Given the description of an element on the screen output the (x, y) to click on. 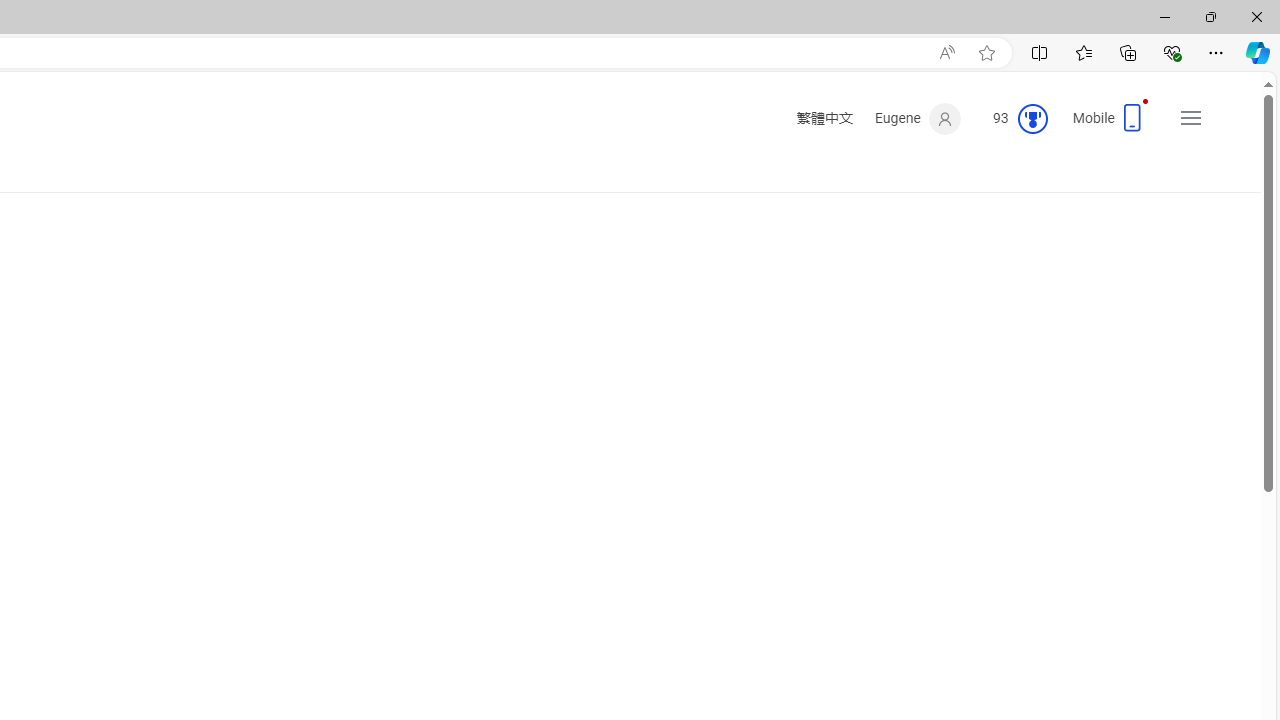
Mobile (1112, 124)
Microsoft Rewards 93 (1012, 119)
Settings and quick links (1190, 117)
Class: medal-circled (1032, 118)
